Given the description of an element on the screen output the (x, y) to click on. 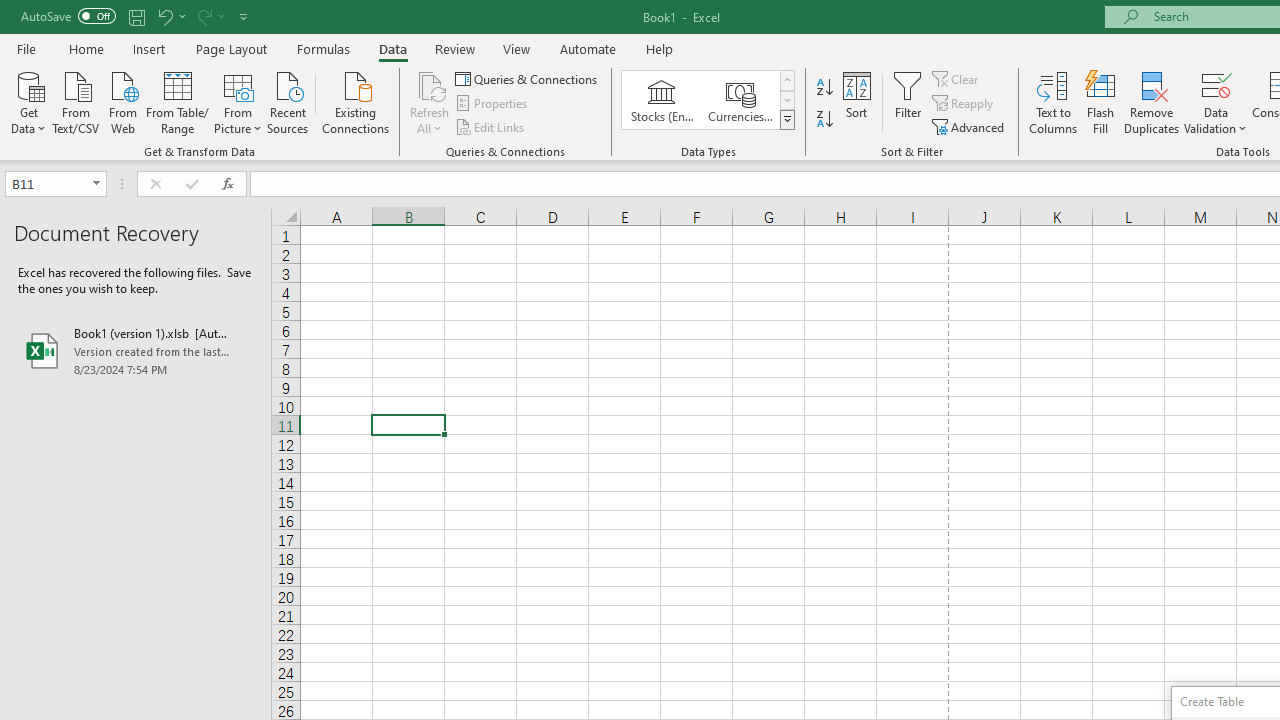
Save (136, 15)
Recent Sources (287, 101)
Customize Quick Access Toolbar (244, 15)
More Options (1215, 121)
Sort Z to A (824, 119)
Automate (588, 48)
Redo (209, 15)
Queries & Connections (527, 78)
Currencies (English) (740, 100)
Undo (170, 15)
Redo (203, 15)
Flash Fill (1101, 102)
Remove Duplicates (1151, 102)
Quick Access Toolbar (136, 16)
Class: NetUIImage (787, 119)
